Given the description of an element on the screen output the (x, y) to click on. 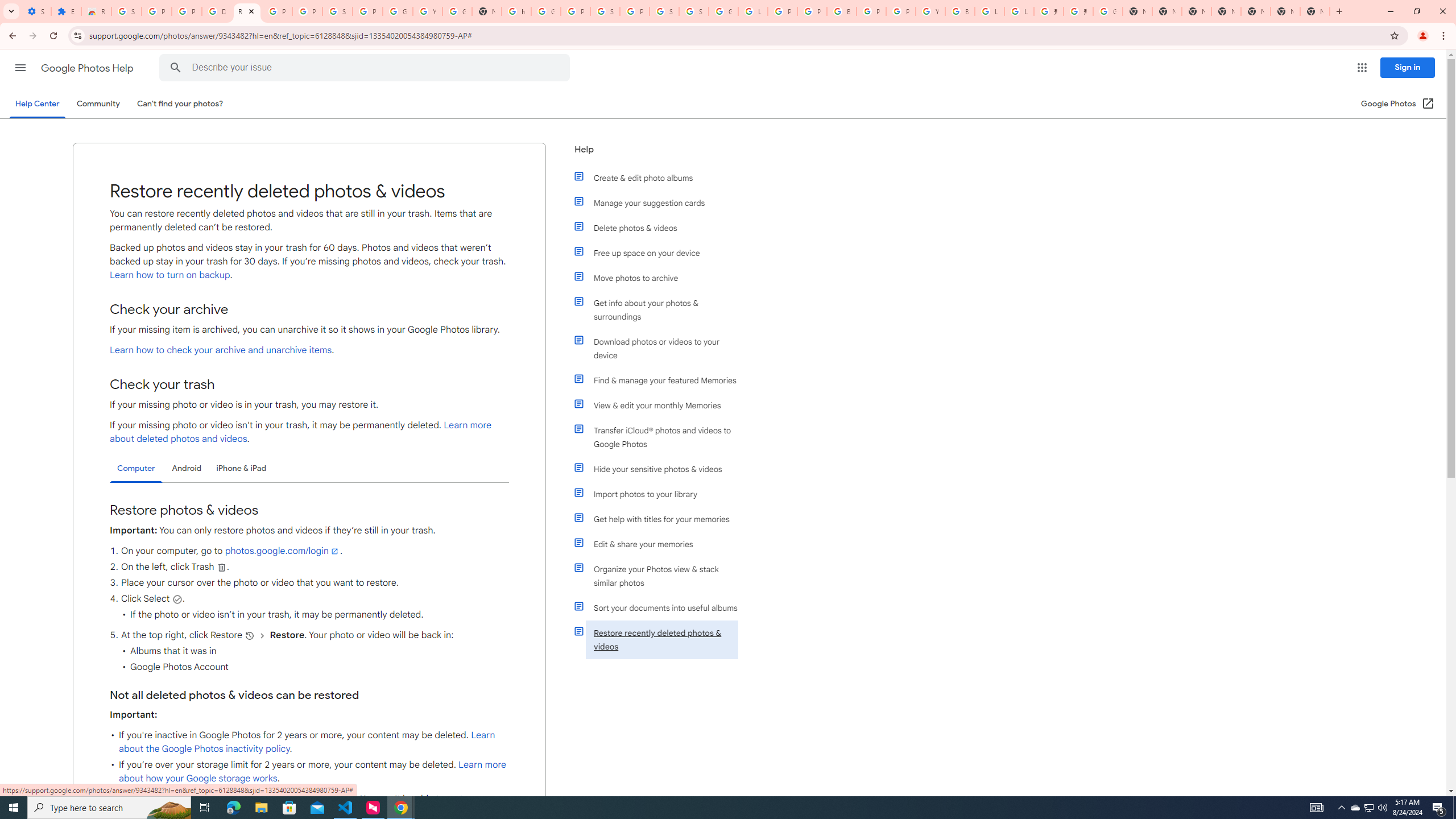
Help Center (36, 103)
Hide your sensitive photos & videos (661, 469)
Sign in - Google Accounts (693, 11)
Learn about the Google Photos inactivity policy (307, 742)
Search Help Center (176, 67)
Sign in - Google Accounts (126, 11)
YouTube (930, 11)
Privacy Help Center - Policies Help (782, 11)
Sign in - Google Accounts (337, 11)
